Given the description of an element on the screen output the (x, y) to click on. 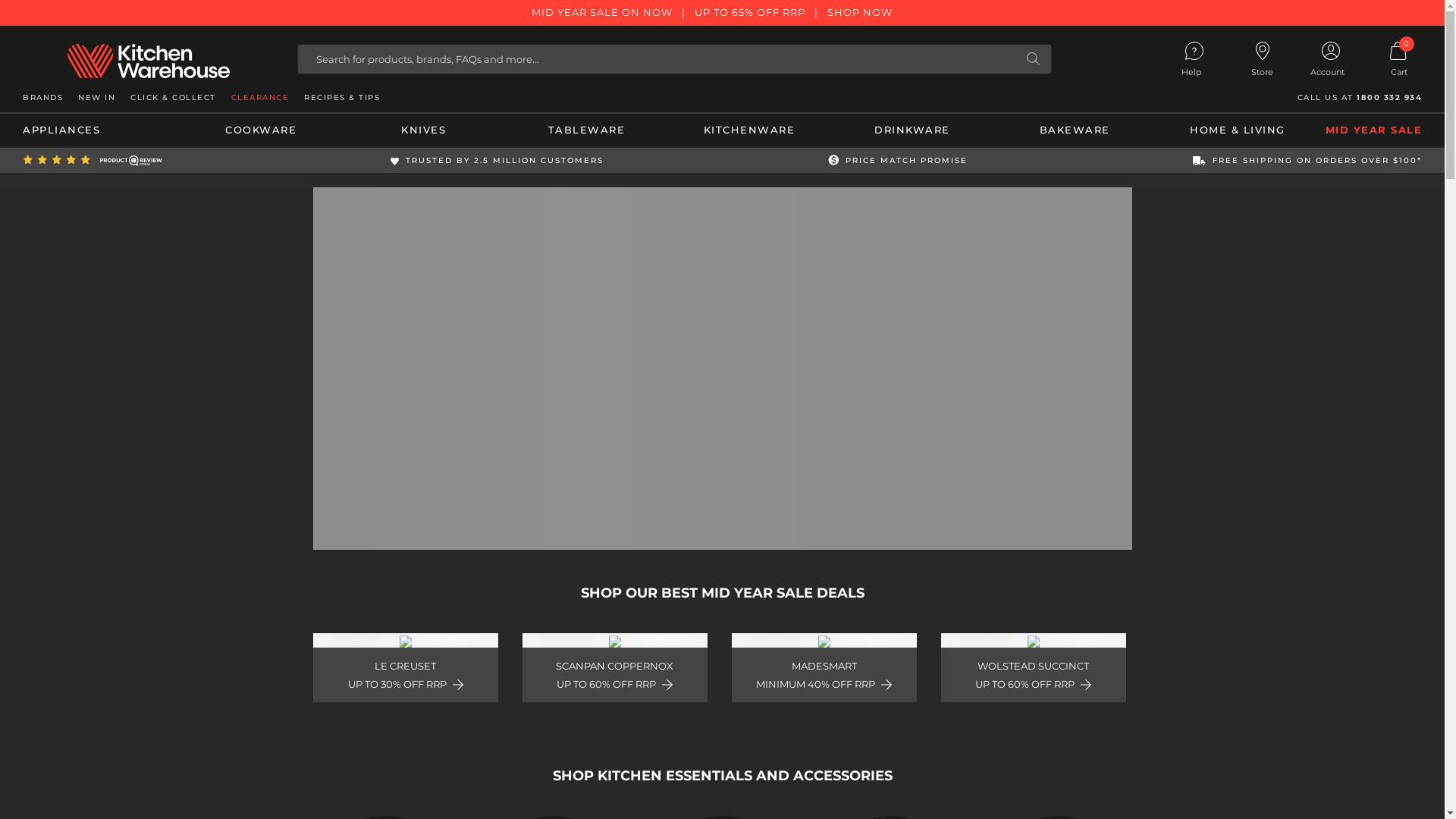
Search Element type: text (1032, 58)
MADESMART
MINIMUM 40% OFF RRP Element type: text (823, 667)
MID YEAR SALE ON NOW | UP TO 65% OFF RRP | SHOP NOW   Element type: text (722, 12)
WOLSTEAD SUCCINCT
UP TO 60% OFF RRP Element type: text (1032, 667)
Help
Help Element type: text (1194, 61)
Store
Store Element type: text (1262, 59)
1800 332 934 Element type: text (1388, 97)
RECIPES & TIPS Element type: text (341, 97)
LE CREUSET
UP TO 30% OFF RRP Element type: text (404, 667)
CLICK & COLLECT Element type: text (173, 97)
Account
Account Element type: text (1330, 61)
FREE SHIPPING ON ORDERS OVER $100* Element type: text (1306, 160)
TABLEWARE Element type: text (592, 130)
SCANPAN COPPERNOX
UP TO 60% OFF RRP Element type: text (613, 667)
BAKEWARE Element type: text (1080, 130)
CLEARANCE Element type: text (259, 97)
PRICE MATCH PROMISE Element type: text (897, 160)
MID YEAR SALE Element type: text (1373, 130)
NEW IN Element type: text (96, 97)
DRINKWARE Element type: text (917, 130)
Cart
Cart
0 Element type: text (1399, 59)
KITCHENWARE Element type: text (755, 130)
COOKWARE Element type: text (266, 130)
KNIVES Element type: text (429, 130)
APPLIANCES Element type: text (103, 130)
TRUSTED BY 2.5 MILLION CUSTOMERS Element type: text (496, 160)
HOME & LIVING Element type: text (1243, 130)
BRANDS Element type: text (42, 97)
